Given the description of an element on the screen output the (x, y) to click on. 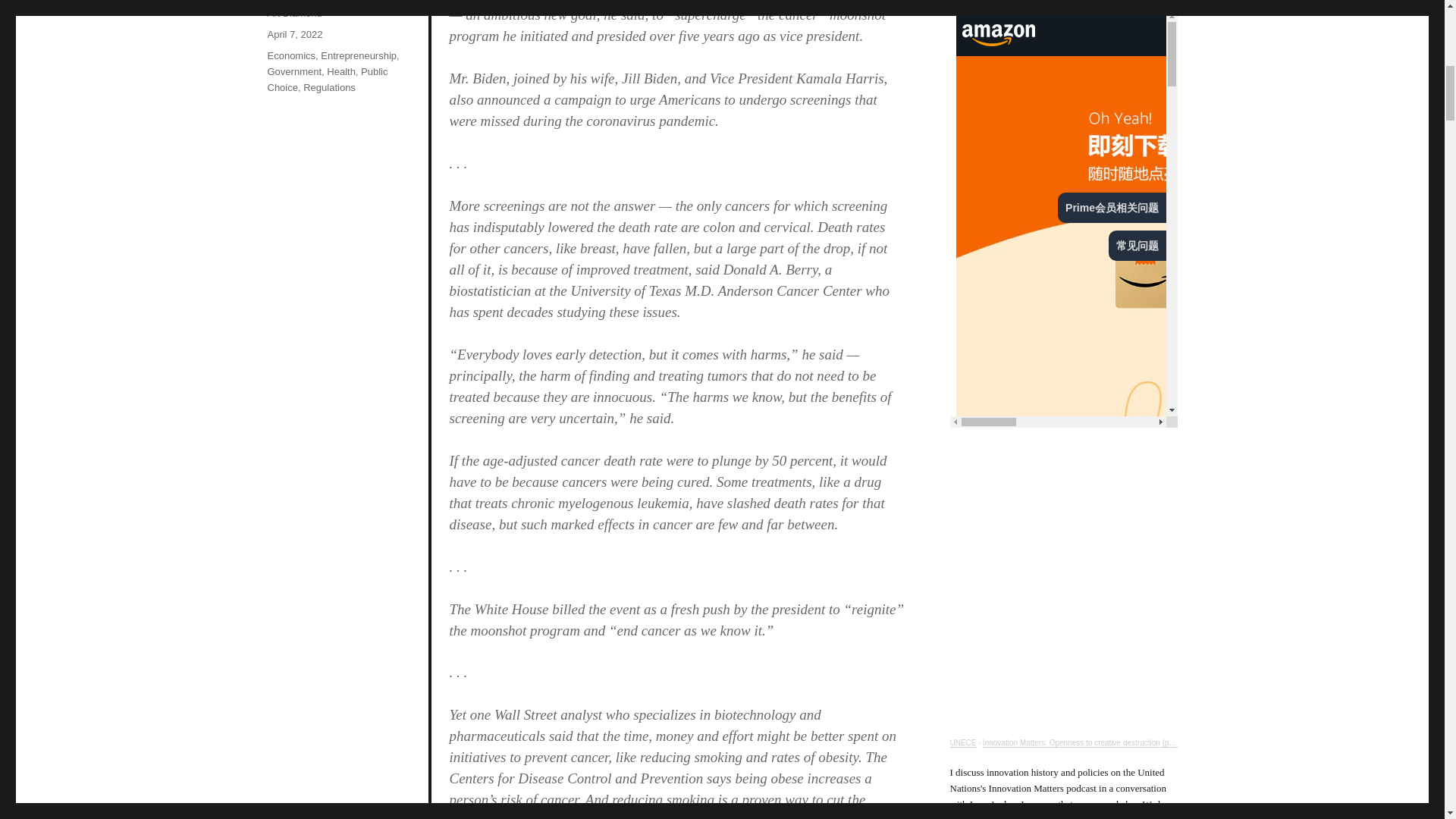
April 7, 2022 (293, 34)
Government (293, 71)
Health (340, 71)
UNECE (962, 742)
Regulations (328, 87)
Entrepreneurship (358, 55)
UNECE (962, 742)
Public Choice (326, 79)
Art Diamond (293, 12)
Economics (290, 55)
